Given the description of an element on the screen output the (x, y) to click on. 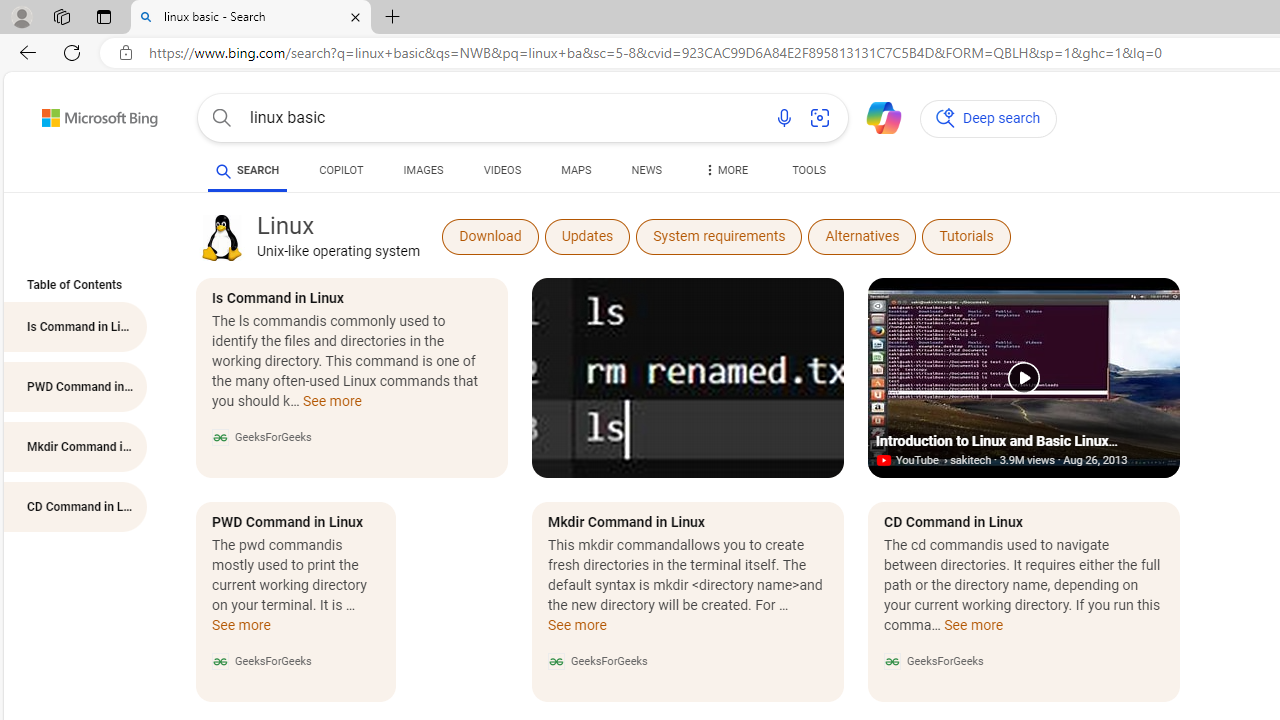
TOOLS (808, 170)
Video source site (885, 460)
AutomationID: b-scopeListItem-local (576, 173)
AutomationID: b-scopeListItem-images (423, 173)
Download (489, 236)
COPILOT (341, 170)
